Given the description of an element on the screen output the (x, y) to click on. 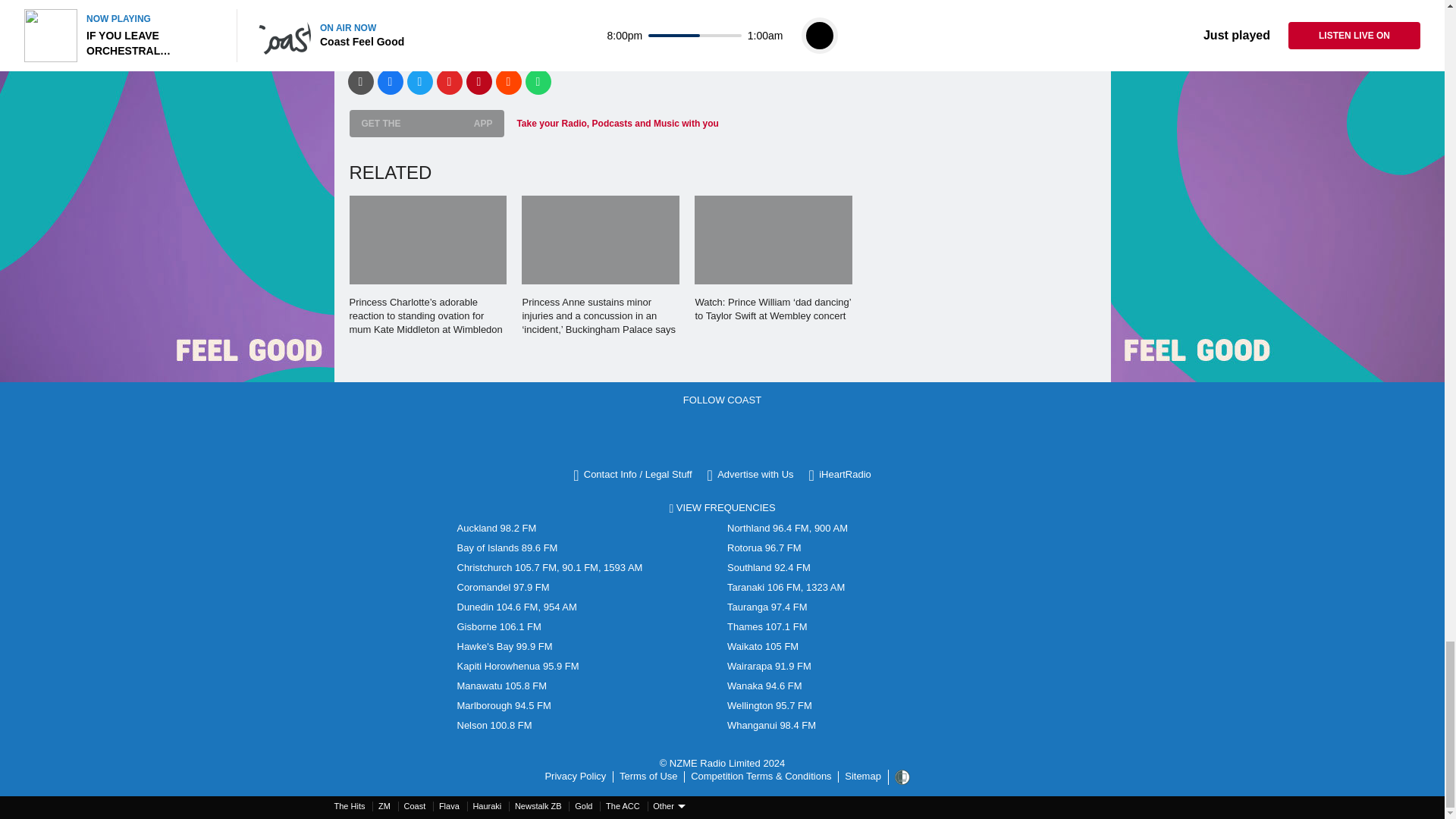
Share with pinterest (478, 81)
Share with flipboard (449, 81)
Share with twitter (419, 81)
Share with facebook (390, 81)
Share with email (359, 81)
Share with reddit (508, 81)
Share with whatsapp (537, 81)
